Given the description of an element on the screen output the (x, y) to click on. 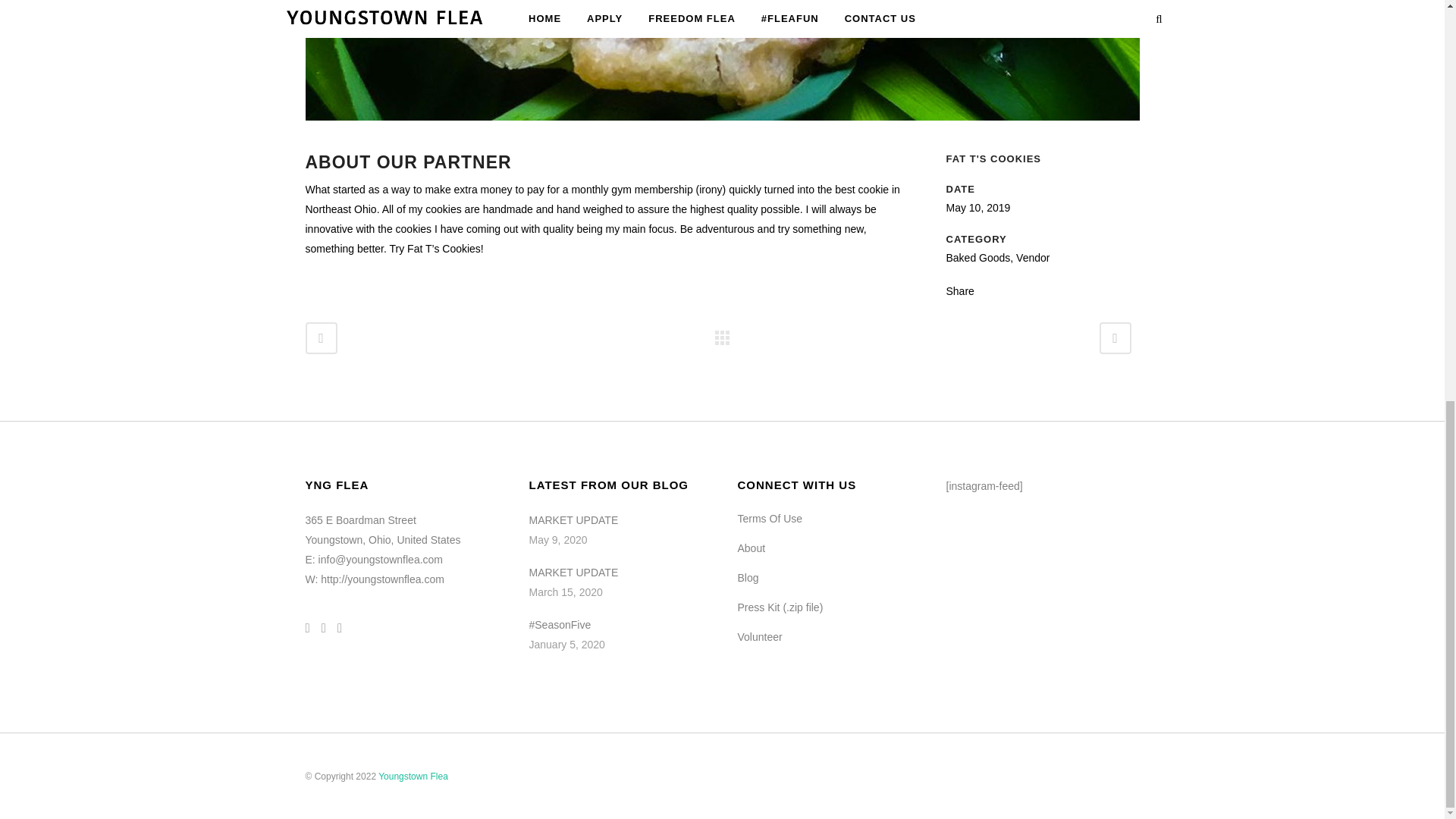
Share (960, 291)
